Given the description of an element on the screen output the (x, y) to click on. 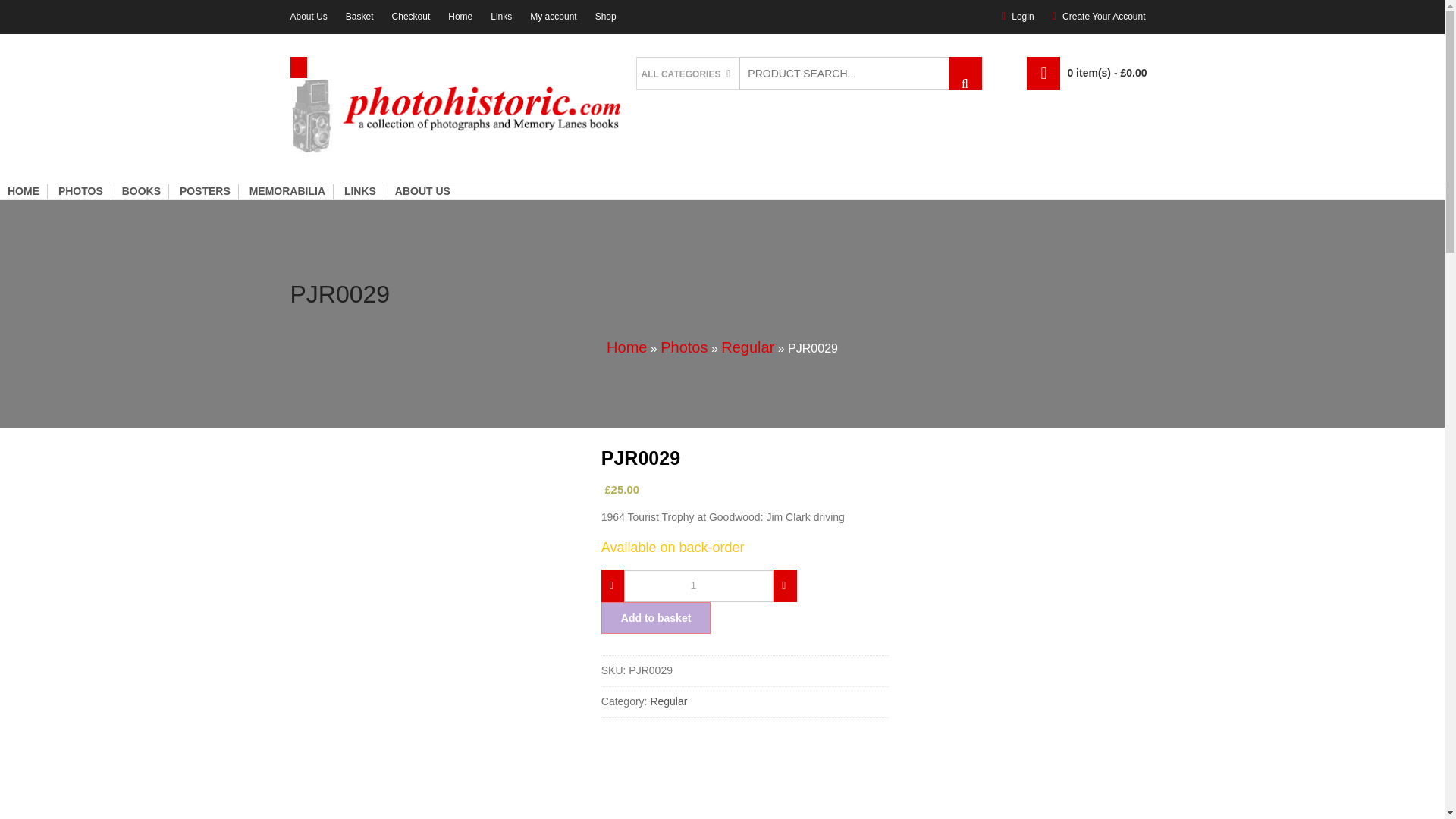
1 (698, 585)
Add to basket (656, 617)
Create Your Account (1103, 16)
Shop (605, 16)
BOOKS (141, 191)
Photos (684, 347)
Home (459, 16)
POSTERS (204, 191)
Login (1022, 16)
View your shopping cart (1106, 73)
